Given the description of an element on the screen output the (x, y) to click on. 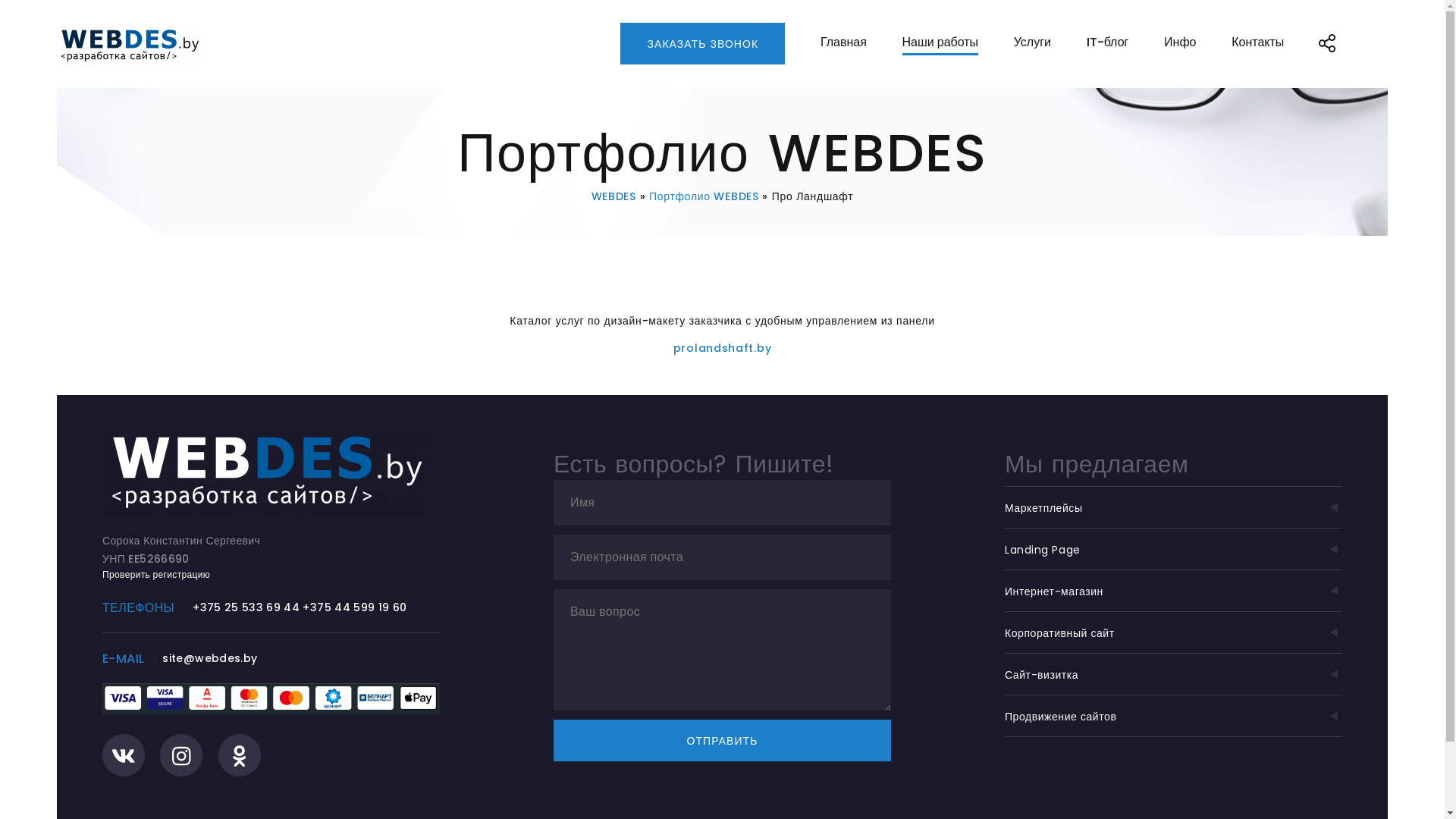
OK Element type: hover (239, 755)
Landing Page Element type: text (1173, 548)
prolandshaft.by Element type: text (722, 347)
site@webdes.by Element type: text (209, 658)
+375 25 533 69 44 Element type: text (245, 607)
VK Element type: hover (123, 755)
WEBDES Element type: text (613, 195)
+375 44 599 19 60 Element type: text (354, 607)
INST Element type: hover (181, 755)
